Given the description of an element on the screen output the (x, y) to click on. 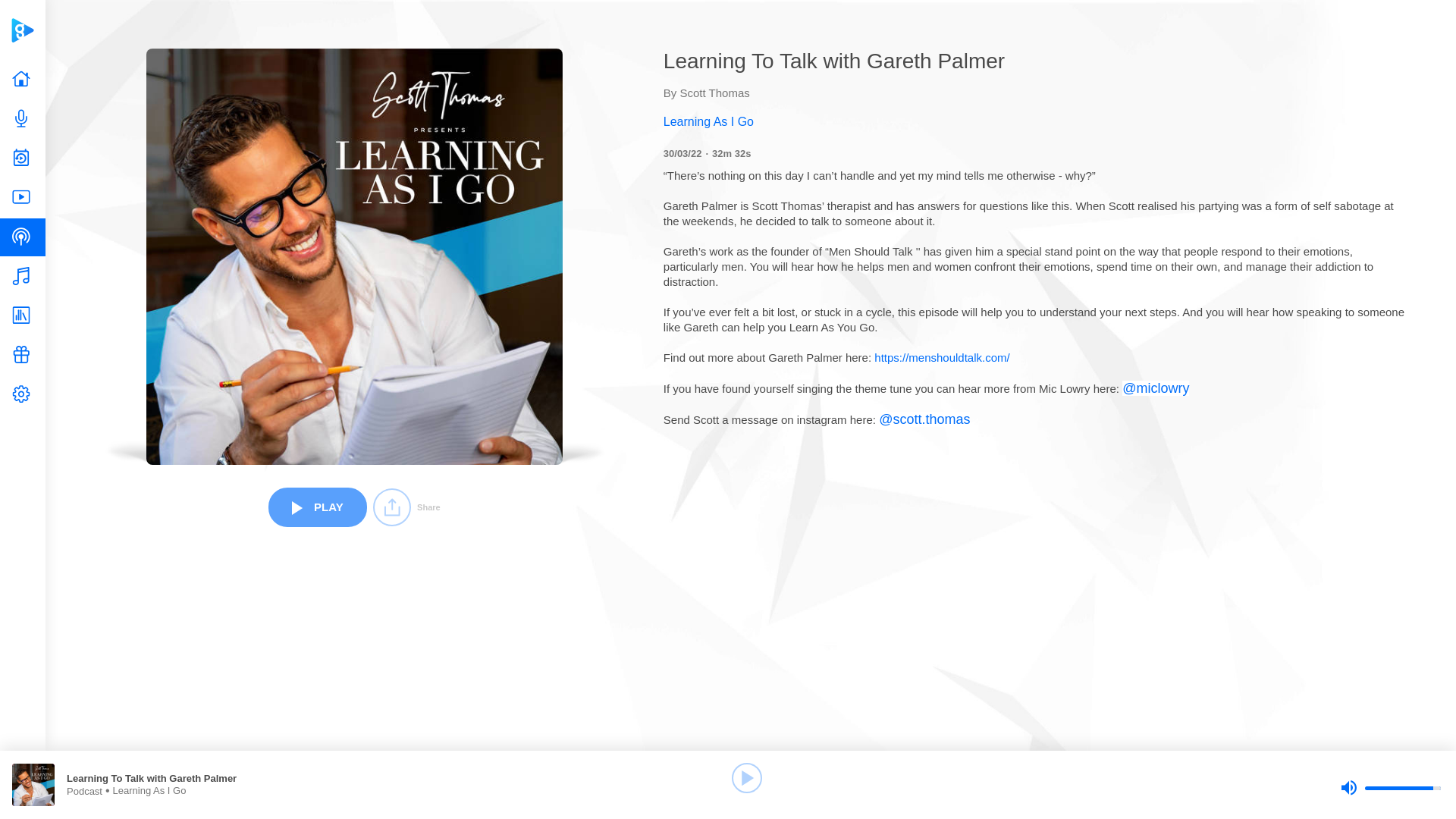
Global Player (22, 30)
Share (406, 507)
Share (406, 507)
PLAY (316, 507)
Global Player (22, 30)
Learning As I Go (1035, 121)
